Given the description of an element on the screen output the (x, y) to click on. 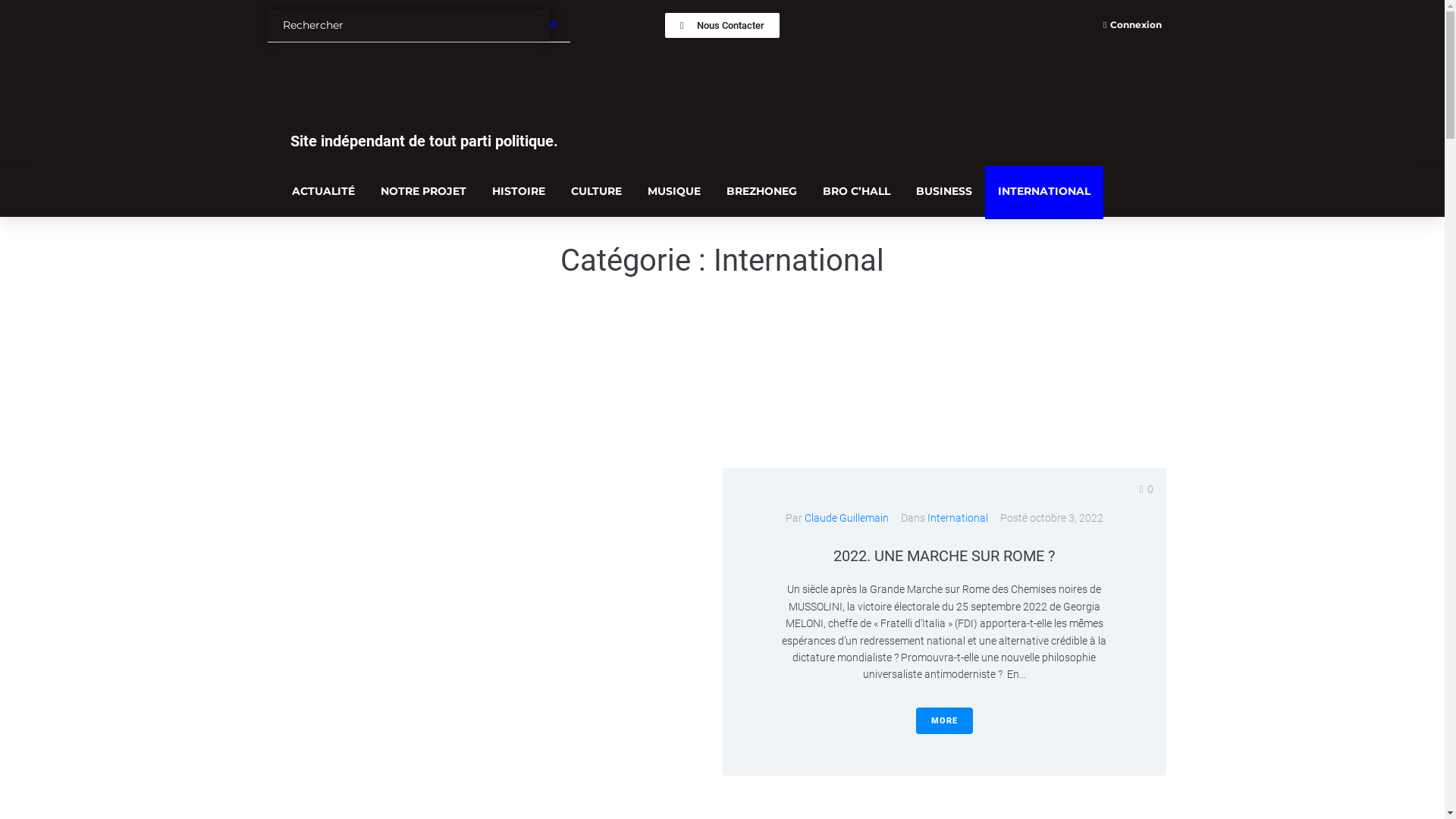
BREZHONEG Element type: text (760, 192)
NOTRE PROJET Element type: text (422, 192)
HISTOIRE Element type: text (518, 192)
Nous Contacter Element type: text (722, 24)
INTERNATIONAL Element type: text (1043, 192)
Claude Guillemain Element type: text (845, 517)
2022. UNE MARCHE SUR ROME ? Element type: text (943, 555)
Connexion Element type: text (1132, 25)
International Element type: text (956, 517)
BUSINESS Element type: text (943, 192)
0 Element type: text (1145, 488)
CULTURE Element type: text (596, 192)
MORE Element type: text (944, 720)
MUSIQUE Element type: text (672, 192)
